Given the description of an element on the screen output the (x, y) to click on. 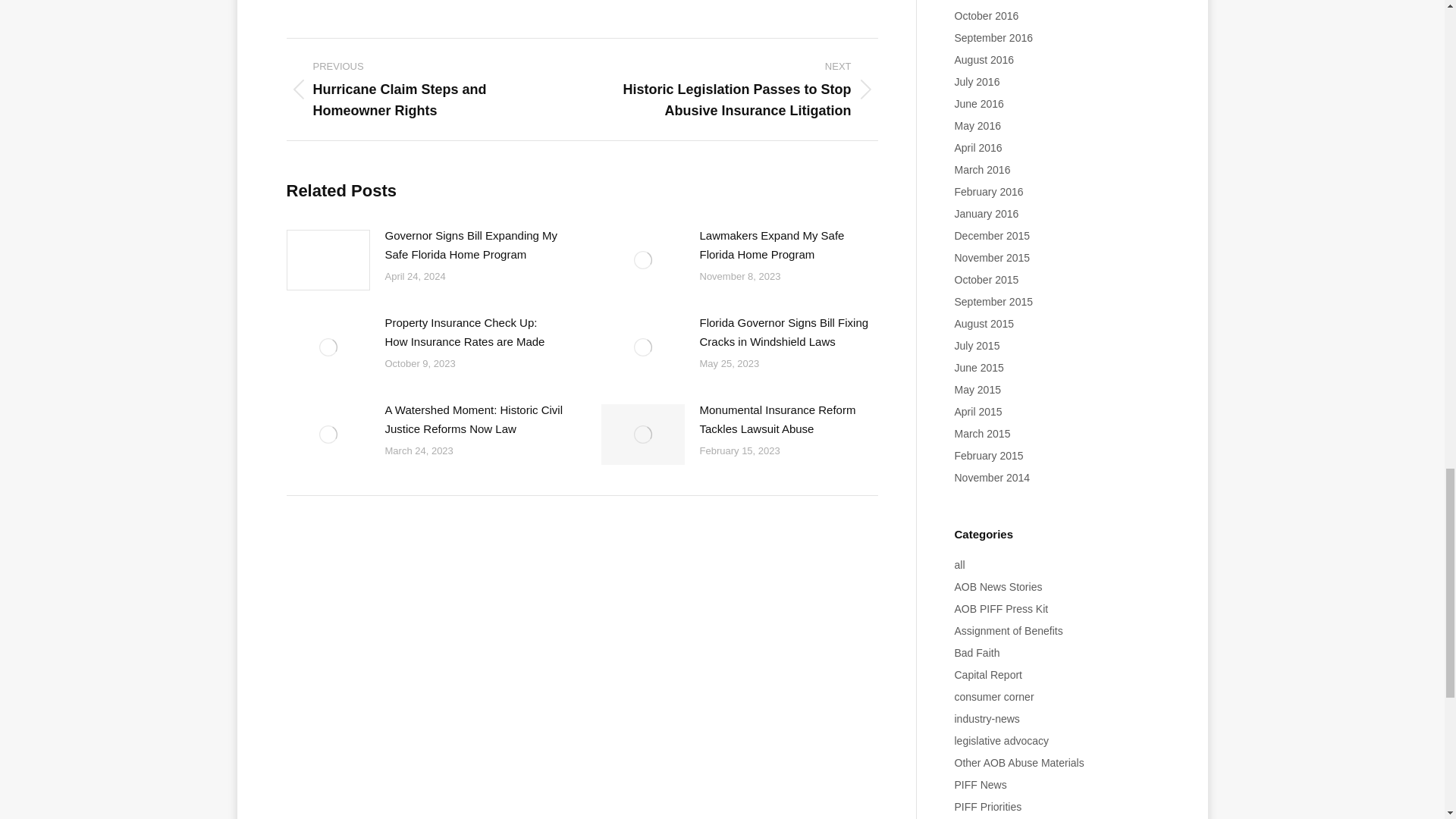
Governor Signs Bill Expanding My Safe Florida Home Program (474, 244)
